Given the description of an element on the screen output the (x, y) to click on. 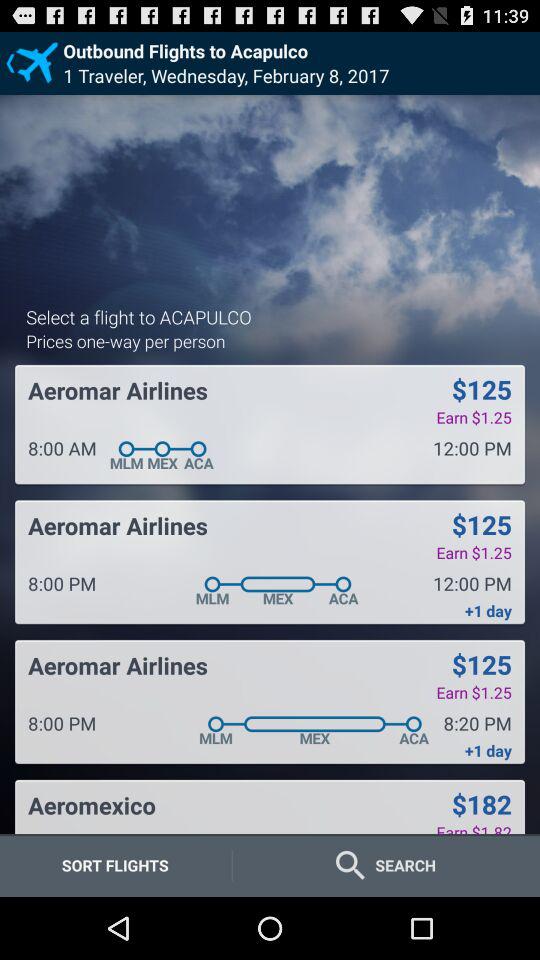
turn on the icon above the prices one way item (138, 316)
